Given the description of an element on the screen output the (x, y) to click on. 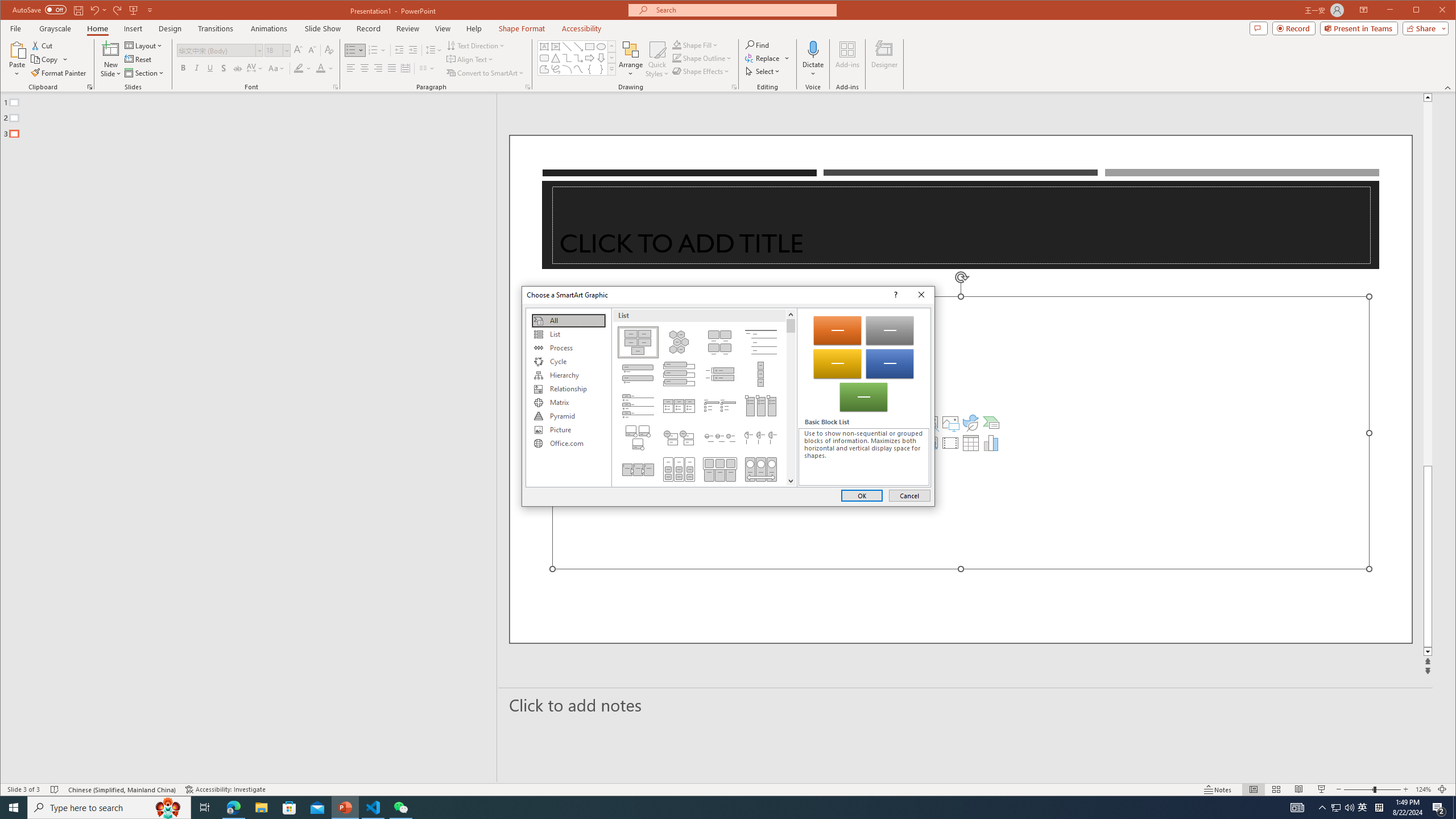
Alternating Hexagons (678, 342)
Cancel (909, 495)
Graphic Layouts (703, 397)
Microsoft Edge - 1 running window (233, 807)
Horizontal Picture List (719, 469)
